Given the description of an element on the screen output the (x, y) to click on. 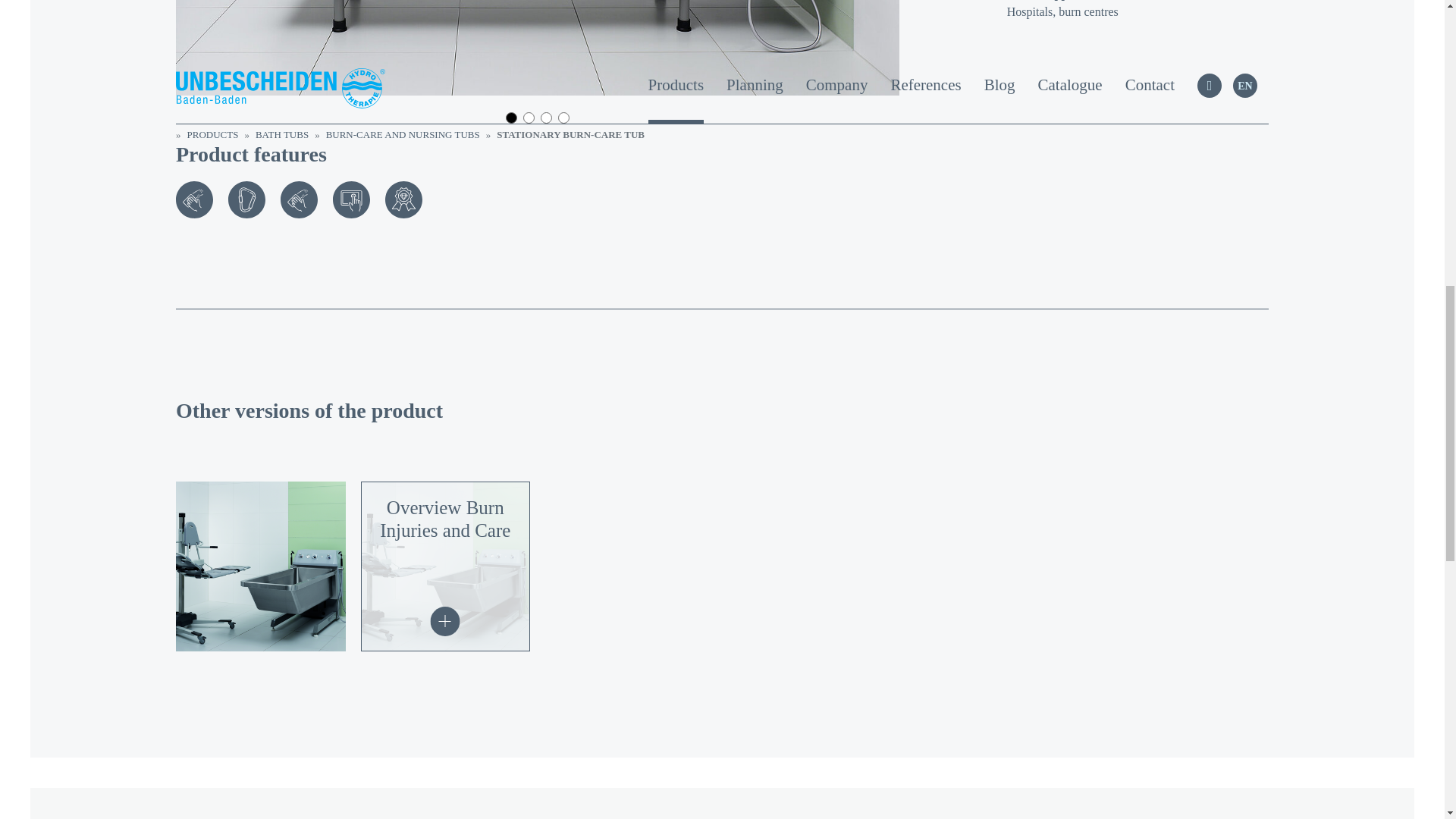
Burn tub stationary: side view (537, 47)
Hygienic (299, 199)
Robust (403, 199)
Hygienic (194, 199)
Safe (246, 199)
Intuitive (351, 199)
